Given the description of an element on the screen output the (x, y) to click on. 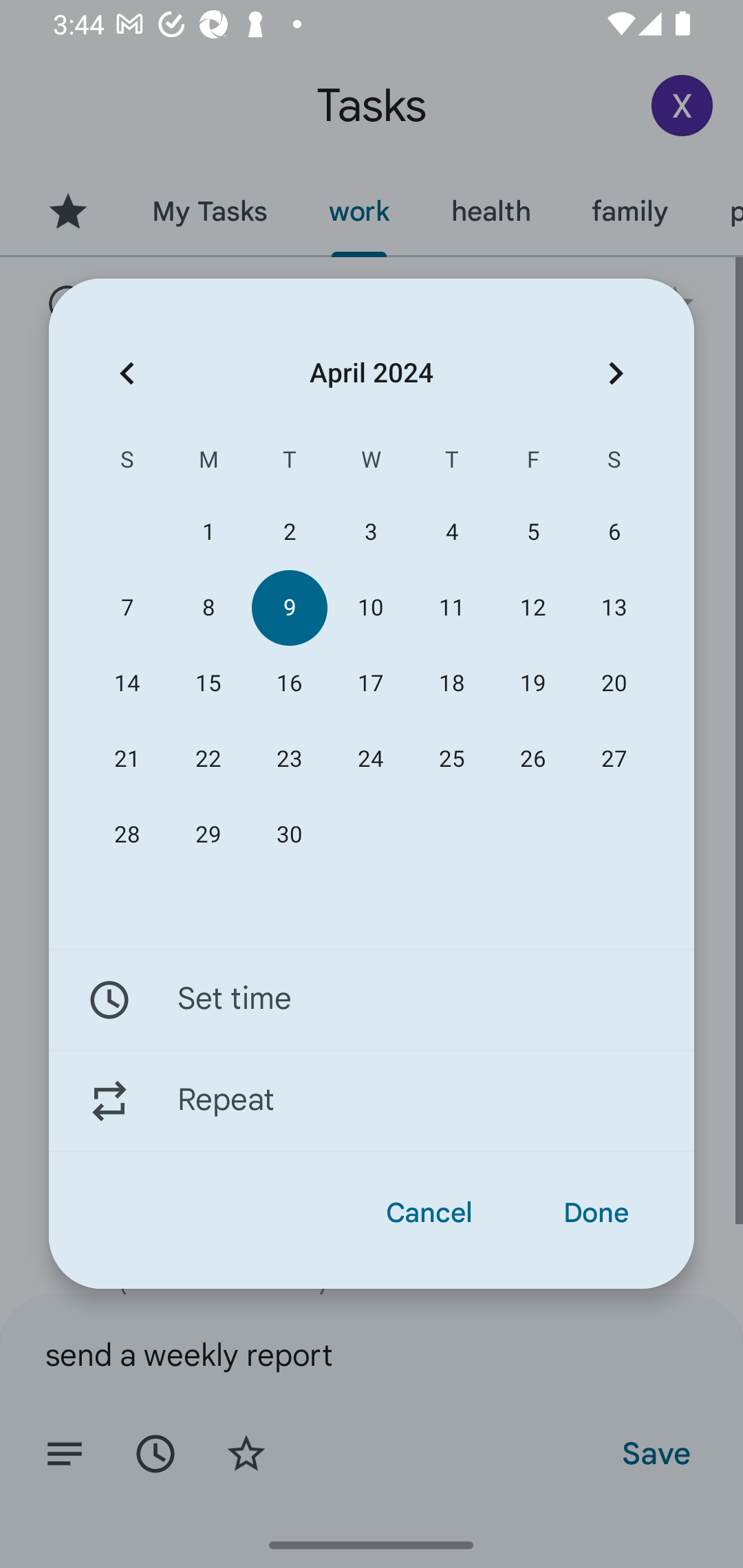
Previous month (126, 372)
Next month (615, 372)
1 01 April 2024 (207, 531)
2 02 April 2024 (288, 531)
3 03 April 2024 (370, 531)
4 04 April 2024 (451, 531)
5 05 April 2024 (532, 531)
6 06 April 2024 (613, 531)
7 07 April 2024 (126, 608)
8 08 April 2024 (207, 608)
9 09 April 2024 (288, 608)
10 10 April 2024 (370, 608)
11 11 April 2024 (451, 608)
12 12 April 2024 (532, 608)
13 13 April 2024 (613, 608)
14 14 April 2024 (126, 683)
15 15 April 2024 (207, 683)
16 16 April 2024 (288, 683)
17 17 April 2024 (370, 683)
18 18 April 2024 (451, 683)
19 19 April 2024 (532, 683)
20 20 April 2024 (613, 683)
21 21 April 2024 (126, 758)
22 22 April 2024 (207, 758)
23 23 April 2024 (288, 758)
24 24 April 2024 (370, 758)
25 25 April 2024 (451, 758)
26 26 April 2024 (532, 758)
27 27 April 2024 (613, 758)
28 28 April 2024 (126, 834)
29 29 April 2024 (207, 834)
30 30 April 2024 (288, 834)
Set time (371, 999)
Repeat (371, 1101)
Cancel (429, 1213)
Done (595, 1213)
